Given the description of an element on the screen output the (x, y) to click on. 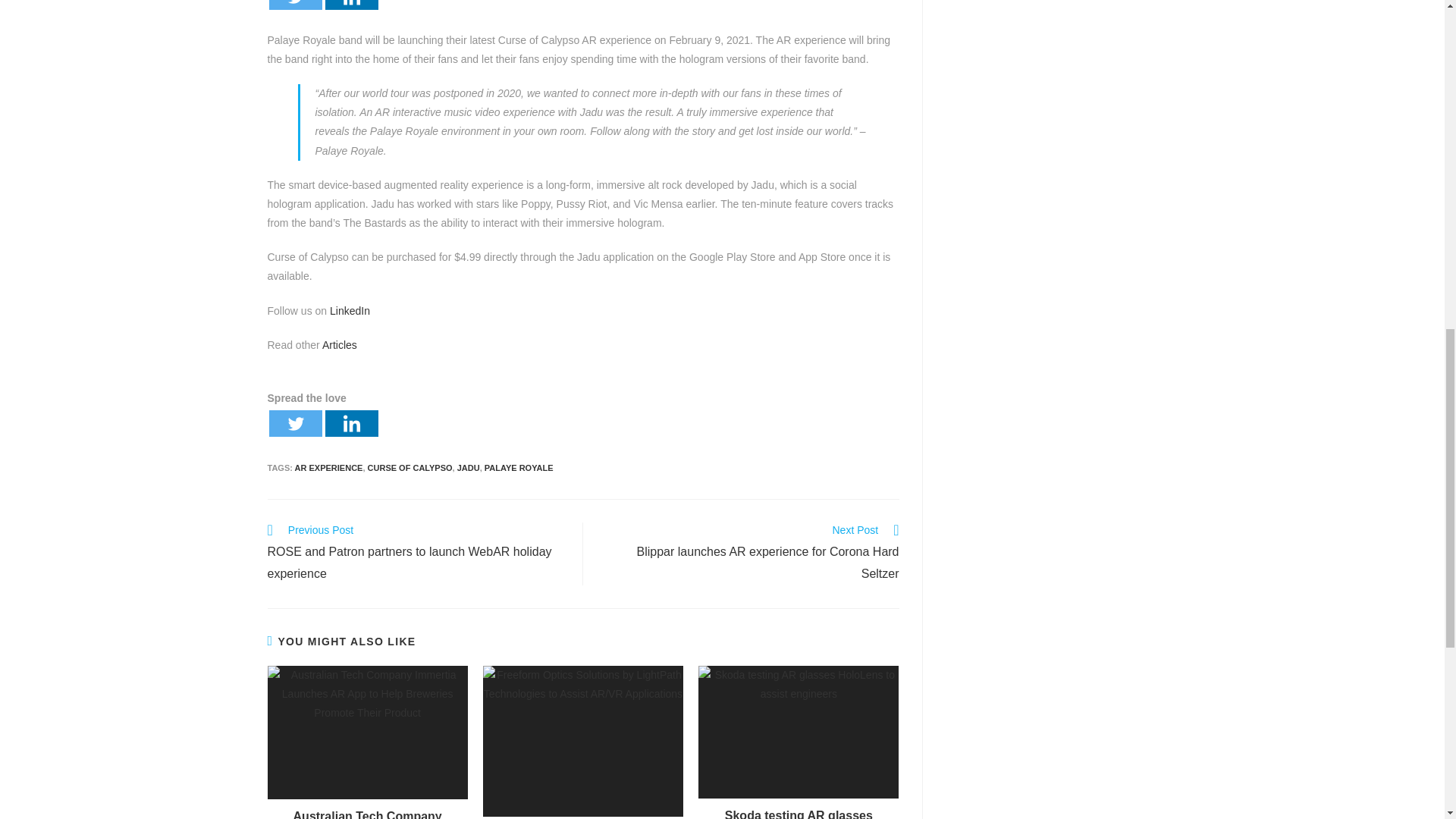
Articles (338, 345)
AR EXPERIENCE (328, 467)
Twitter (294, 4)
LinkedIn (349, 310)
Twitter (294, 423)
CURSE OF CALYPSO (410, 467)
Skoda testing AR glasses HoloLens to assist engineers (798, 813)
